Given the description of an element on the screen output the (x, y) to click on. 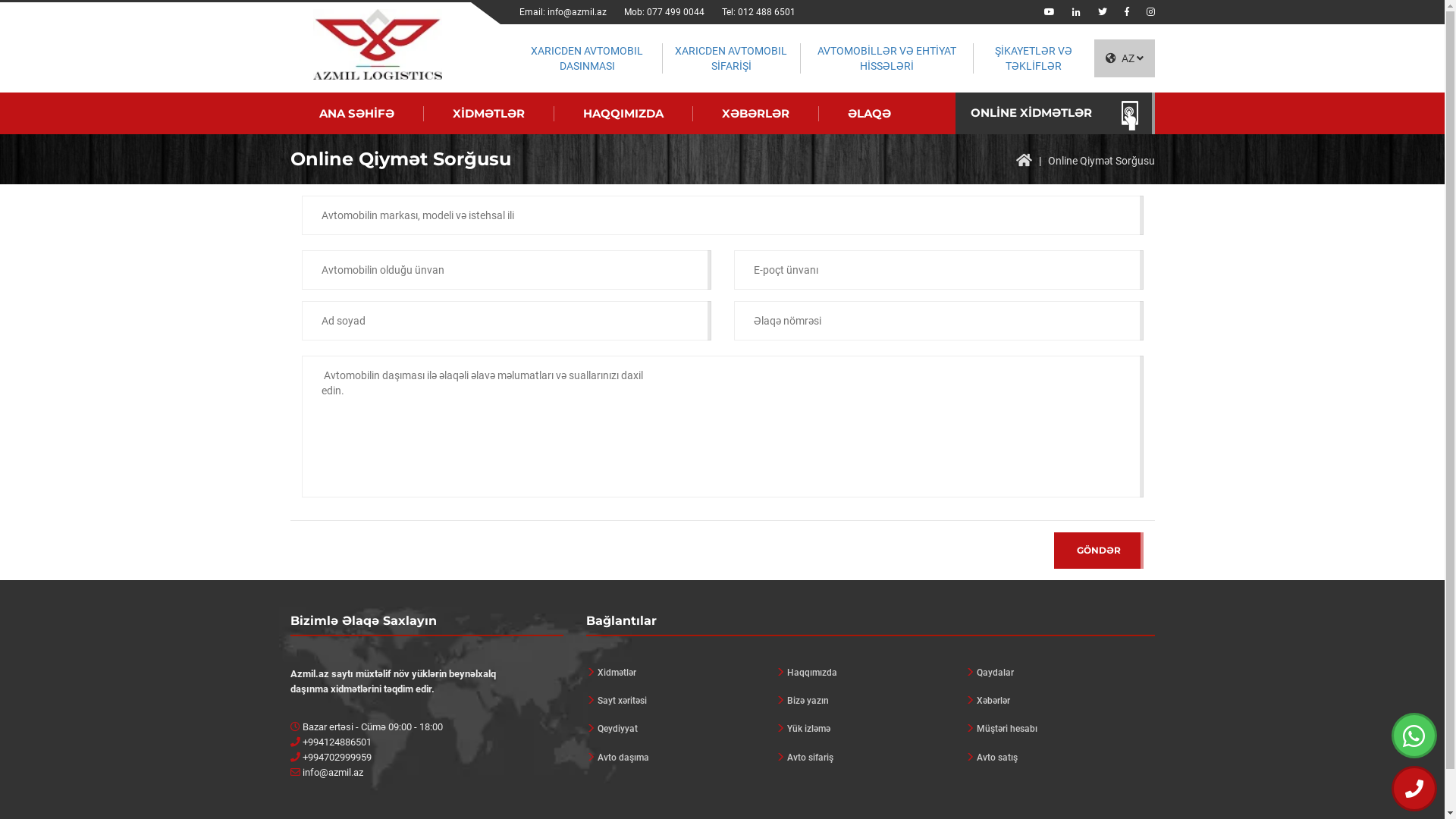
Tel: 012 488 6501 Element type: text (758, 12)
HAQQIMIZDA Element type: text (622, 113)
AZ Element type: text (1123, 58)
Qaydalar Element type: text (1059, 672)
XARICDEN AVTOMOBIL DASINMASI Element type: text (586, 58)
0XXXXXXXXX Element type: hover (938, 320)
Mob: 077 499 0044 Element type: text (664, 12)
Email: info@azmil.az Element type: text (562, 12)
Qeydiyyat Element type: text (680, 728)
